Given the description of an element on the screen output the (x, y) to click on. 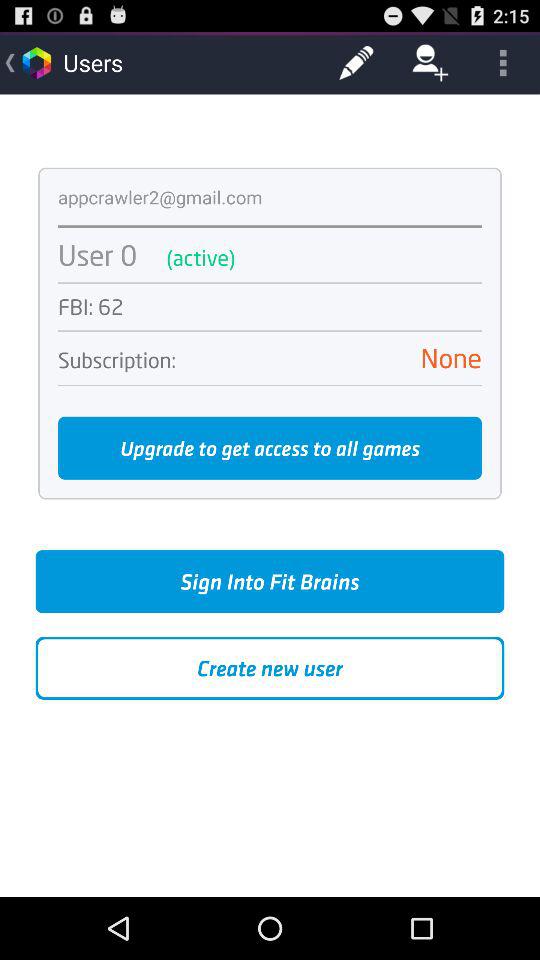
flip until subscription: item (116, 360)
